Given the description of an element on the screen output the (x, y) to click on. 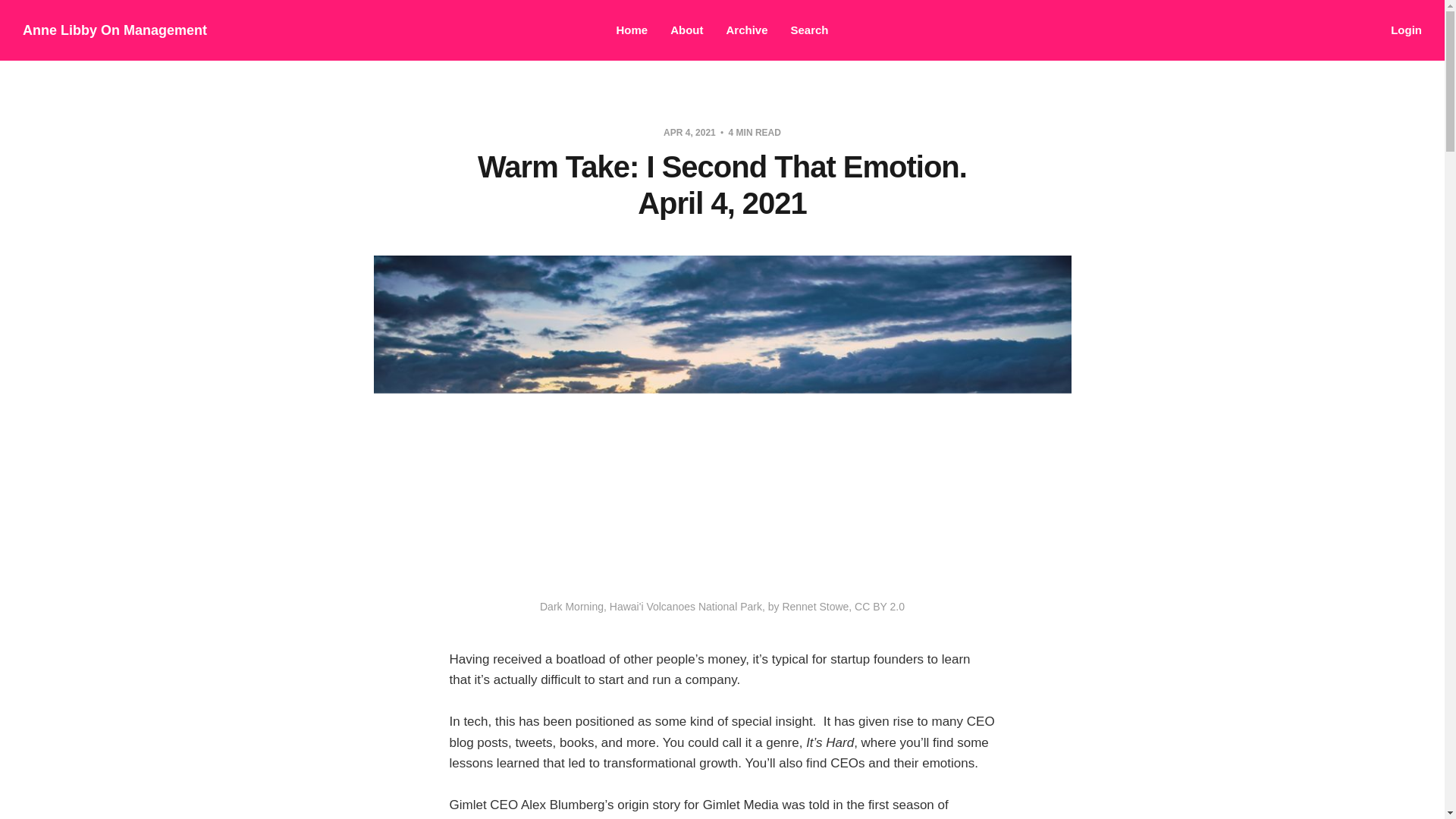
Startup (469, 818)
Home (631, 30)
Search (809, 30)
Login (1406, 30)
Archive (746, 30)
About (686, 30)
Anne Libby On Management (114, 30)
